Given the description of an element on the screen output the (x, y) to click on. 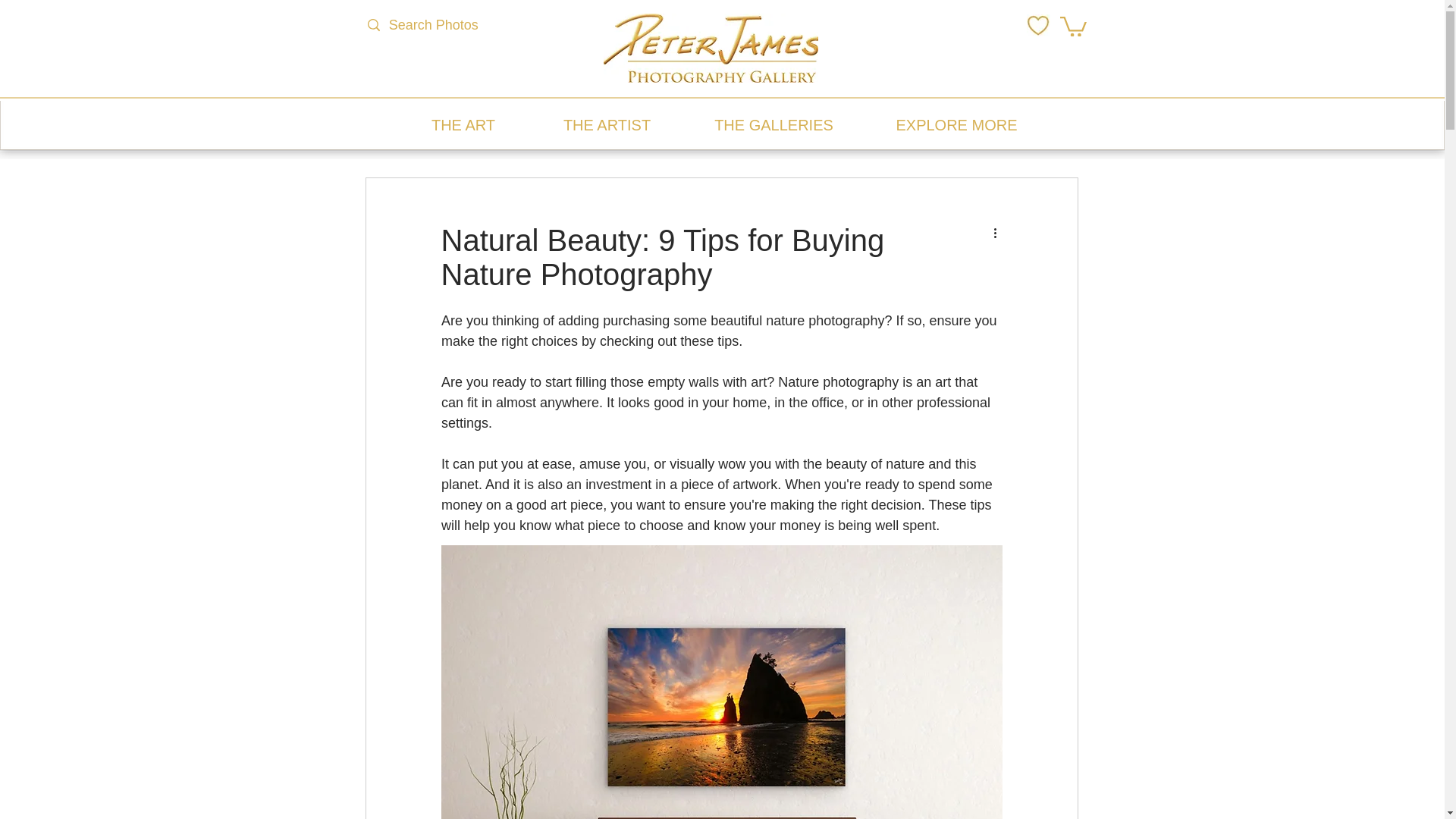
THE GALLERIES (774, 124)
EXPLORE MORE (956, 124)
THE ART (462, 124)
THE ARTIST (607, 124)
